Given the description of an element on the screen output the (x, y) to click on. 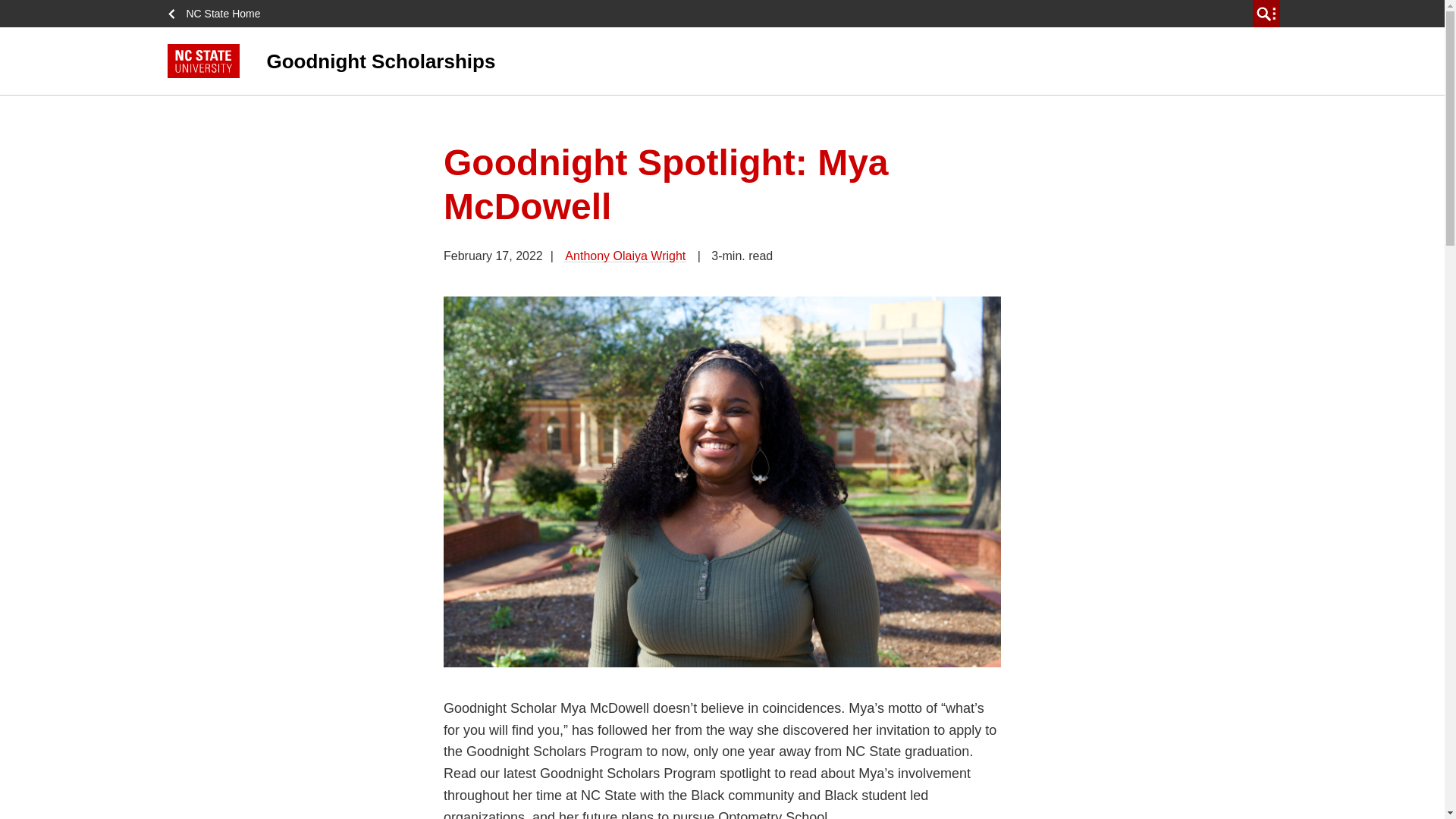
Goodnight Scholarships (599, 61)
NC State Home (217, 13)
Posts by Anthony Olaiya Wright (624, 255)
Anthony Olaiya Wright (624, 255)
